Given the description of an element on the screen output the (x, y) to click on. 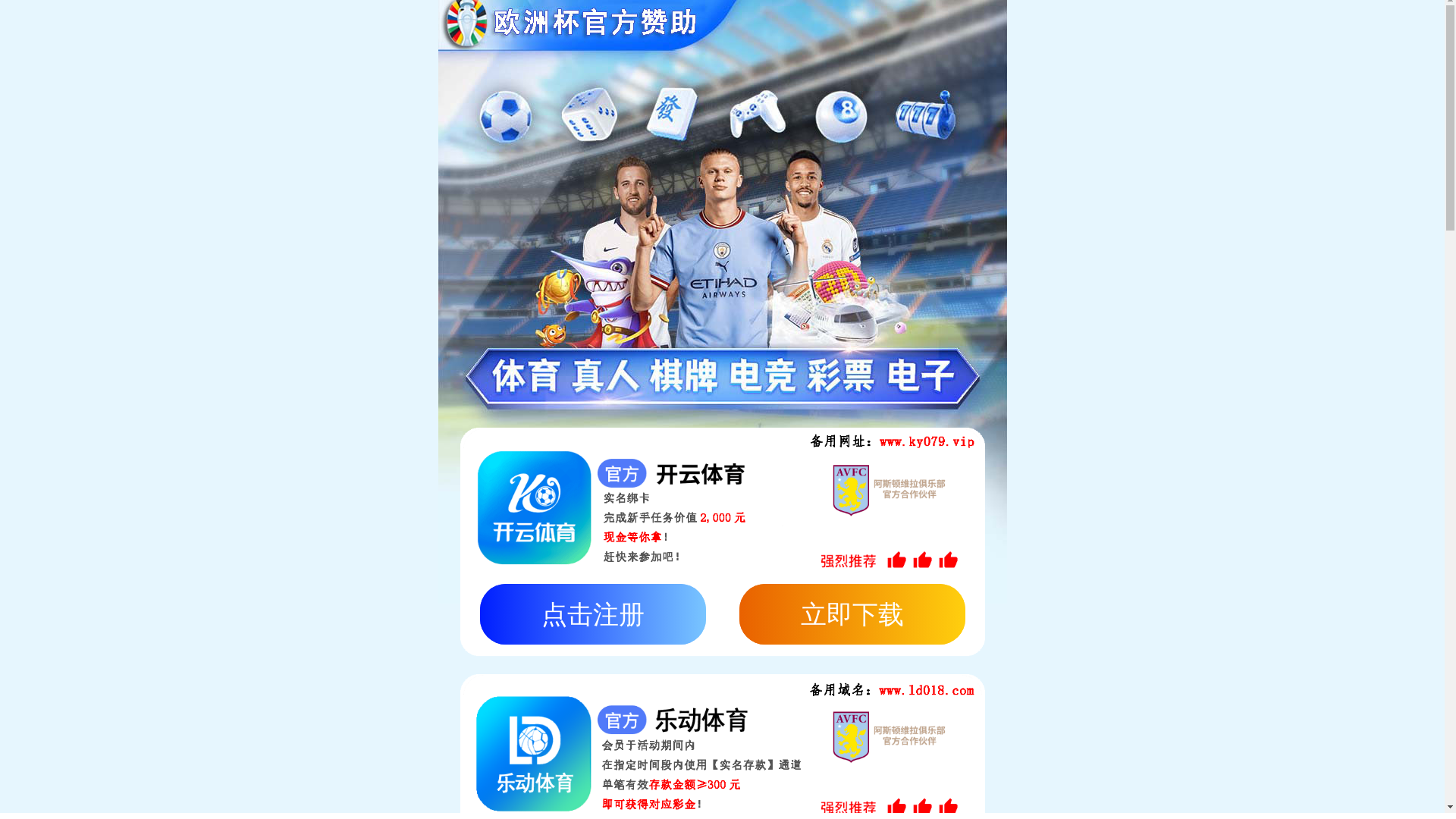
CN (1400, 24)
Mechanical mixing equipment technology (702, 334)
Institute (779, 27)
Robot transmission technology (487, 335)
TOP (1201, 333)
Electrolytic aluminum equipment (1071, 335)
About (507, 27)
Marketing (916, 27)
Contact Us (1189, 27)
Solution (643, 27)
